Given the description of an element on the screen output the (x, y) to click on. 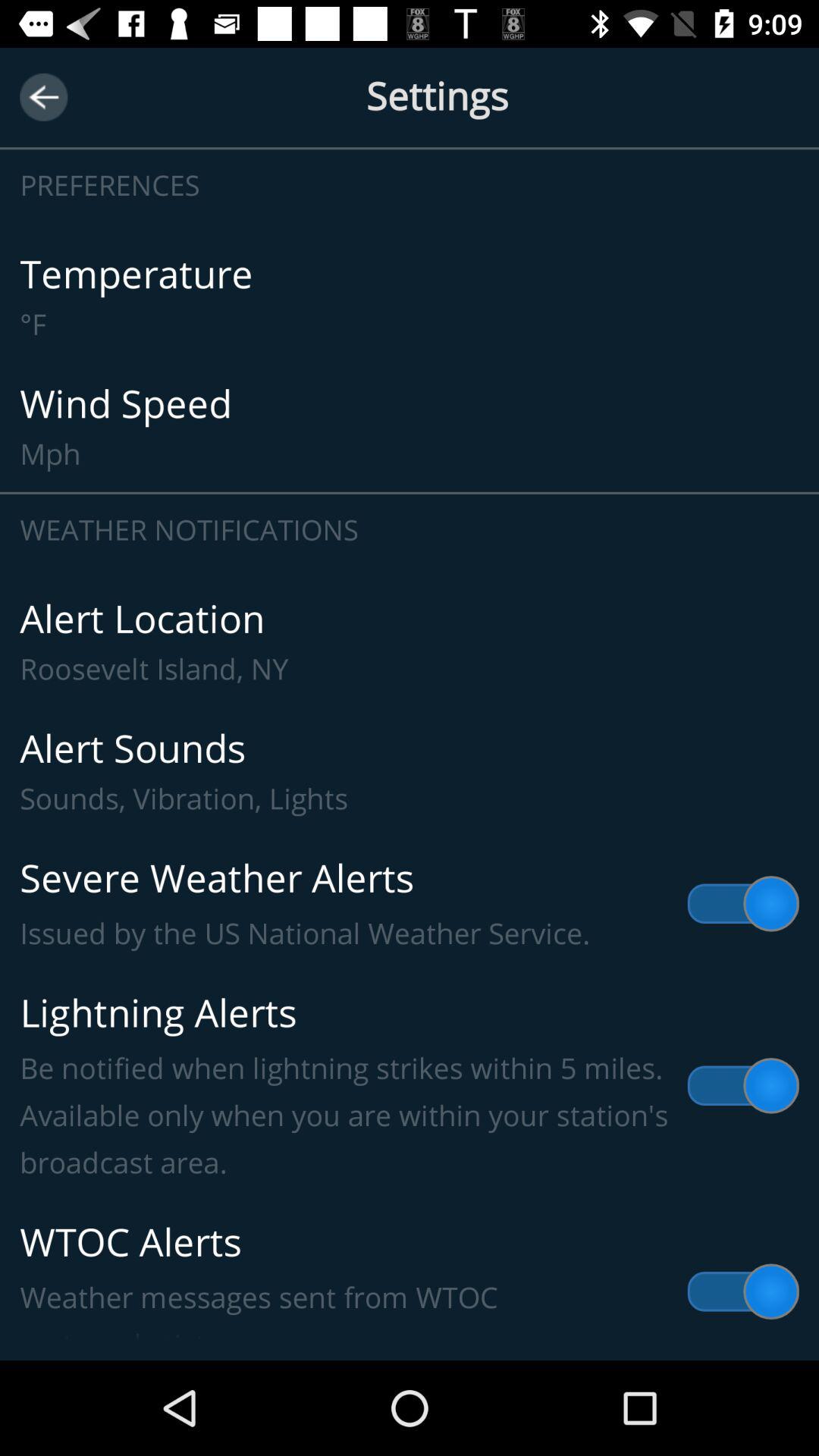
turn on the item below the alert location roosevelt (409, 771)
